Given the description of an element on the screen output the (x, y) to click on. 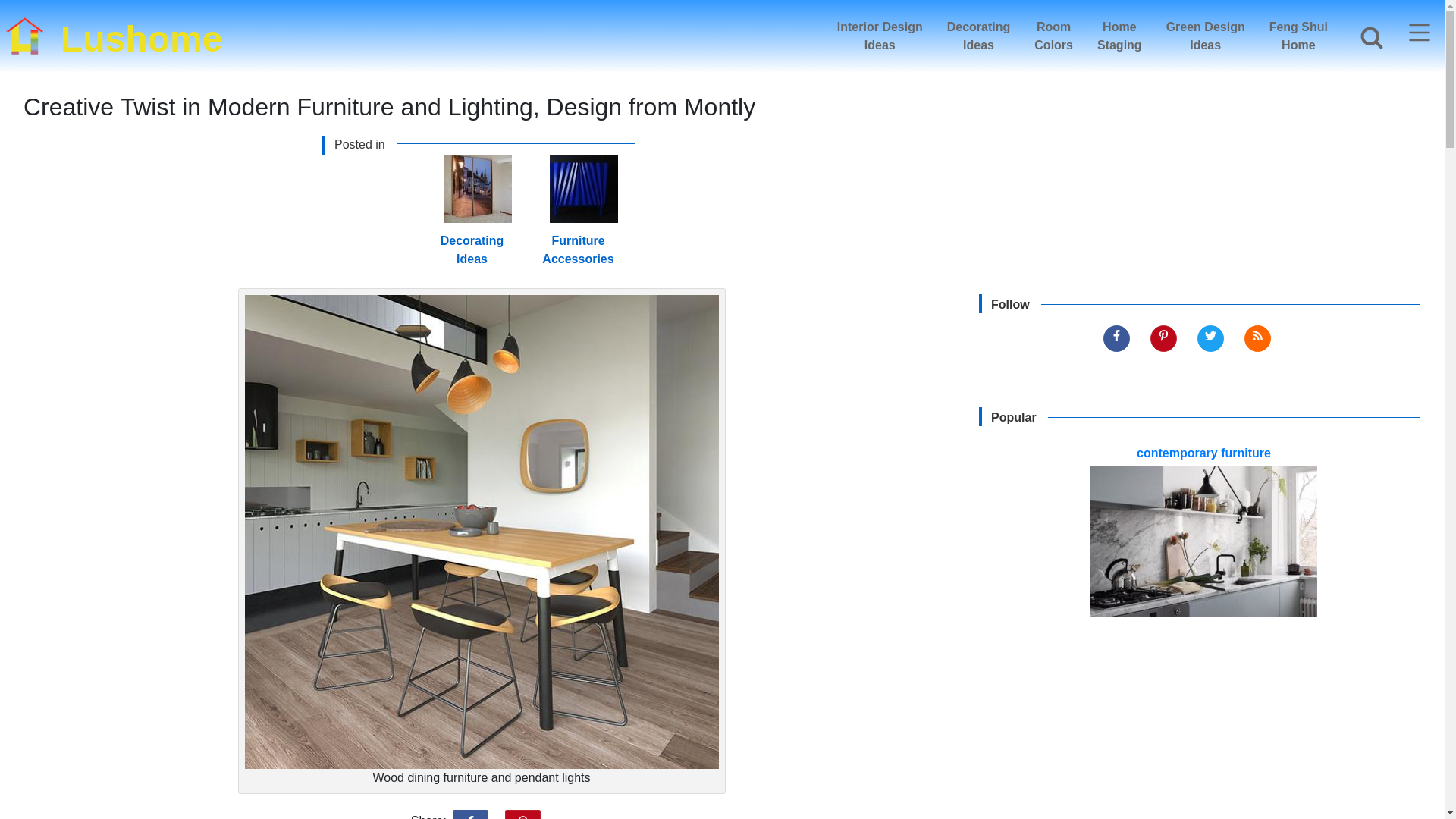
Lushome (1298, 36)
